Given the description of an element on the screen output the (x, y) to click on. 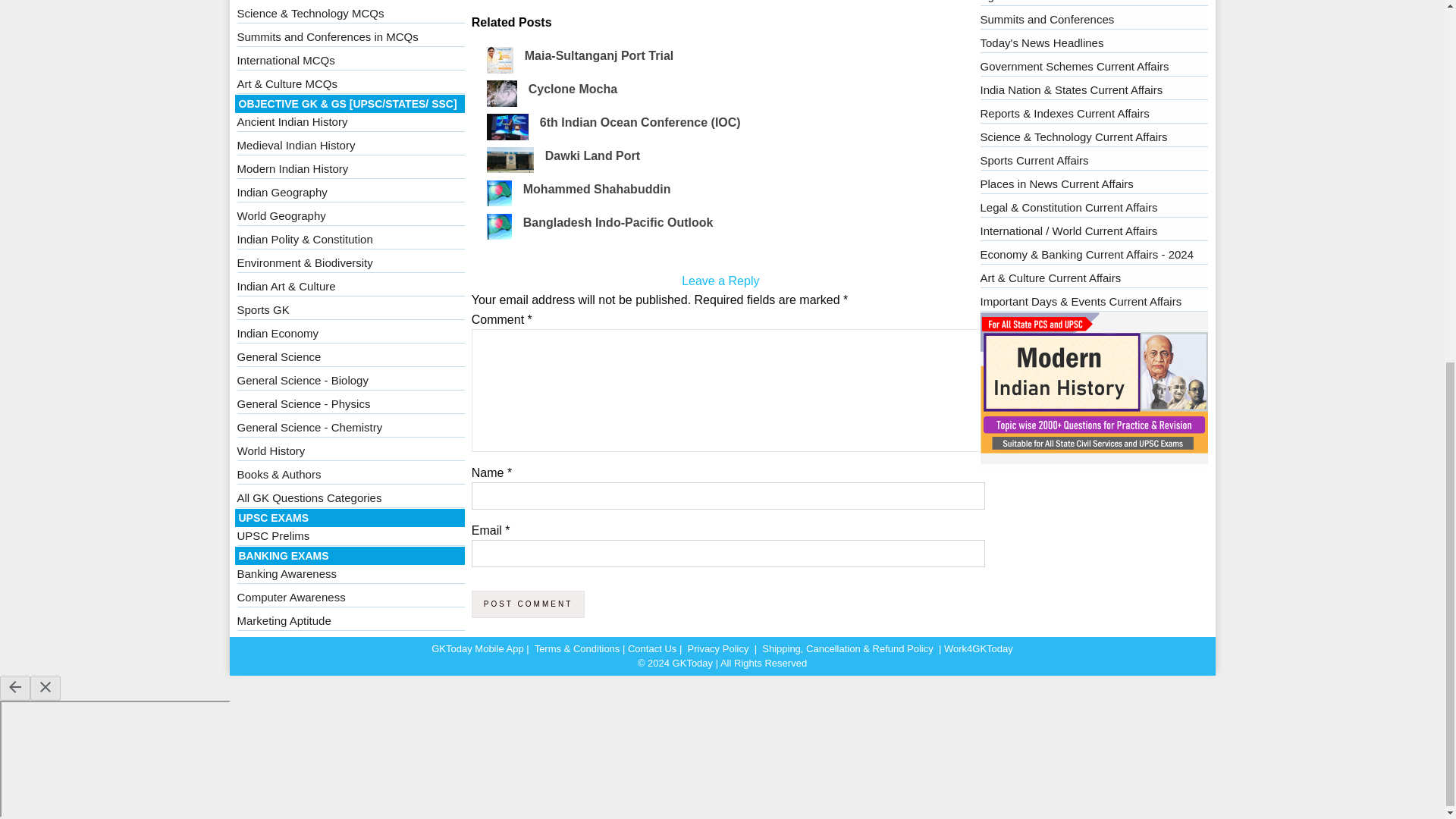
Bangladesh Indo-Pacific Outlook (617, 222)
Post Comment (528, 604)
Advertisement (720, 6)
Post Comment (528, 604)
Cyclone Mocha (572, 88)
Maia-Sultanganj Port Trial (598, 55)
Bangladesh Indo-Pacific Outlook (617, 222)
Mohammed Shahabuddin (596, 188)
Dawki Land Port (592, 155)
Cyclone Mocha (572, 88)
Mohammed Shahabuddin (596, 188)
Dawki Land Port (592, 155)
Maia-Sultanganj Port Trial (598, 55)
